Given the description of an element on the screen output the (x, y) to click on. 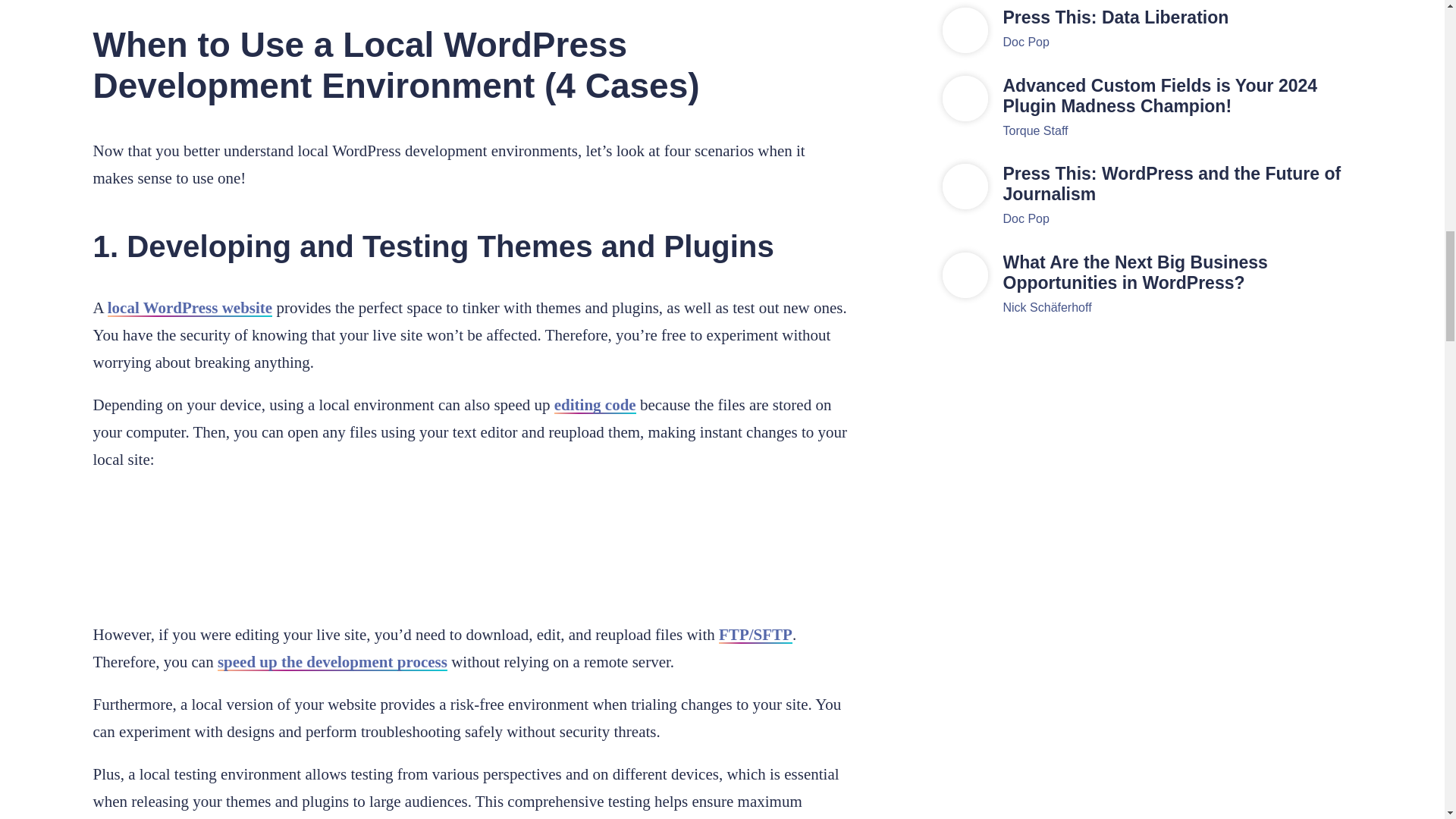
speed up the development process (331, 661)
editing code (595, 404)
local WordPress website (189, 307)
